Given the description of an element on the screen output the (x, y) to click on. 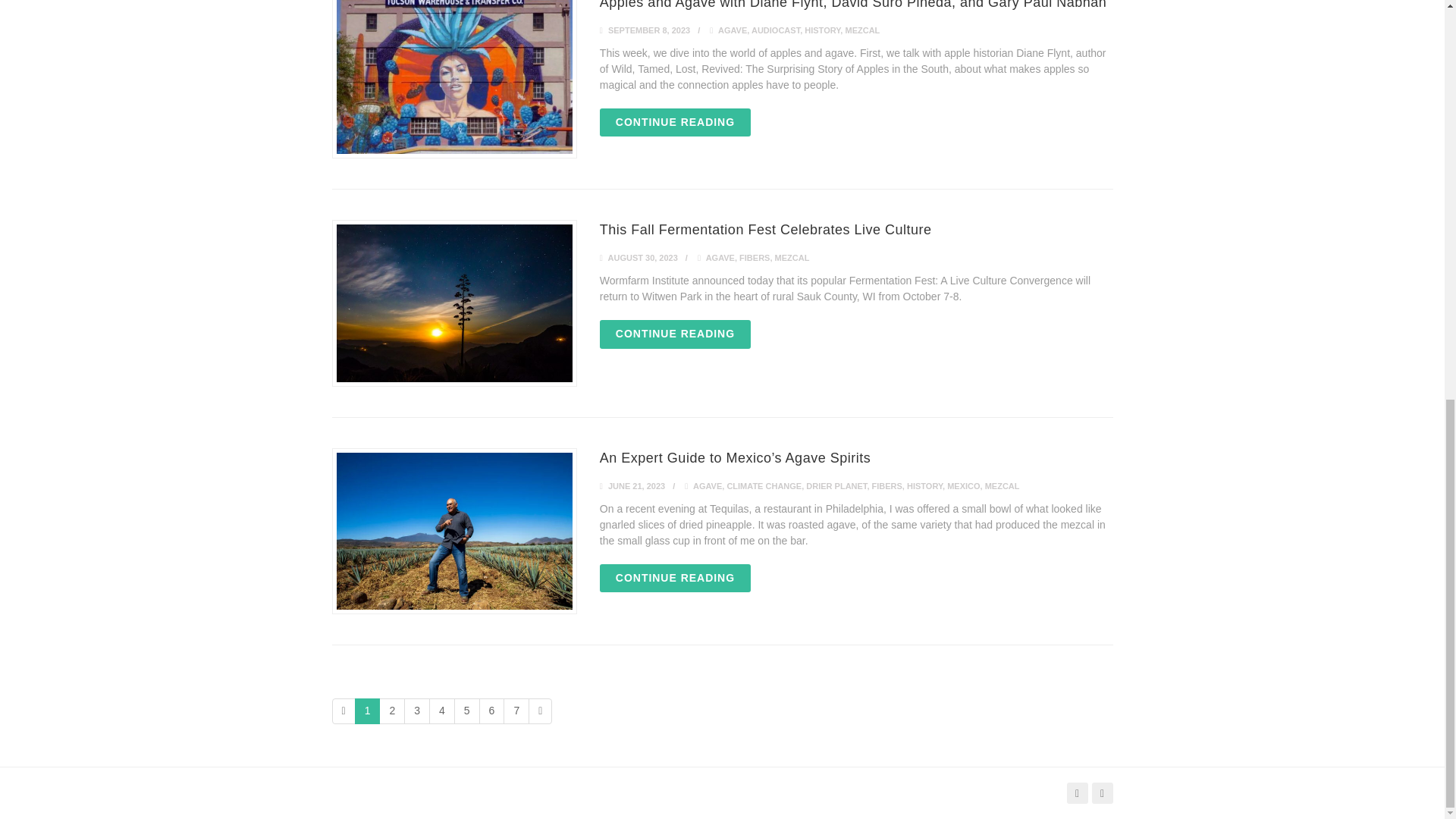
First (343, 710)
Last (539, 710)
